Given the description of an element on the screen output the (x, y) to click on. 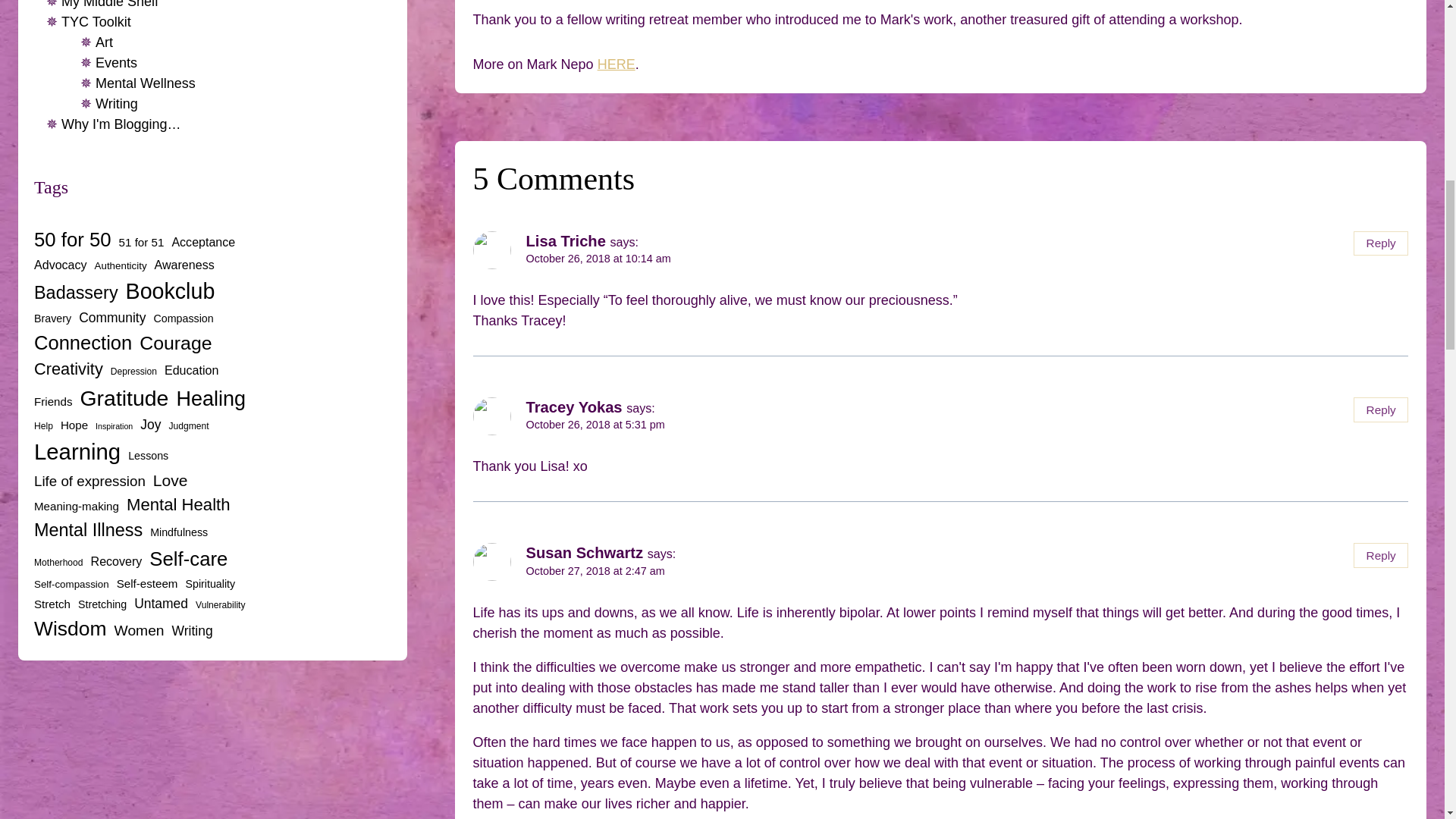
October 26, 2018 at 5:31 pm (595, 424)
October 27, 2018 at 2:47 am (595, 571)
Reply (1380, 243)
Reply (1380, 555)
October 26, 2018 at 10:14 am (598, 258)
Reply (1380, 409)
HERE (615, 64)
